Given the description of an element on the screen output the (x, y) to click on. 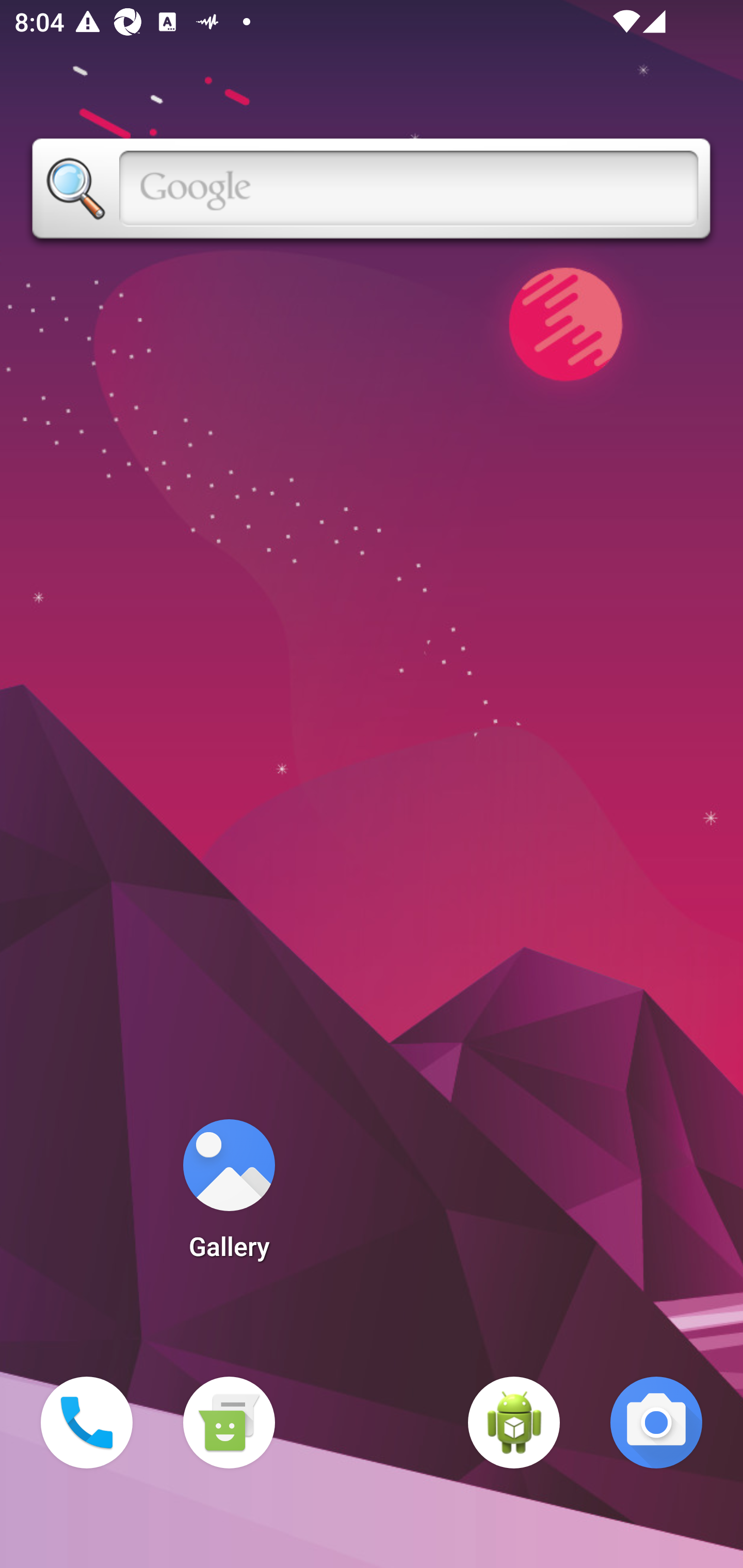
Gallery (228, 1195)
Phone (86, 1422)
Messaging (228, 1422)
WebView Browser Tester (513, 1422)
Camera (656, 1422)
